Given the description of an element on the screen output the (x, y) to click on. 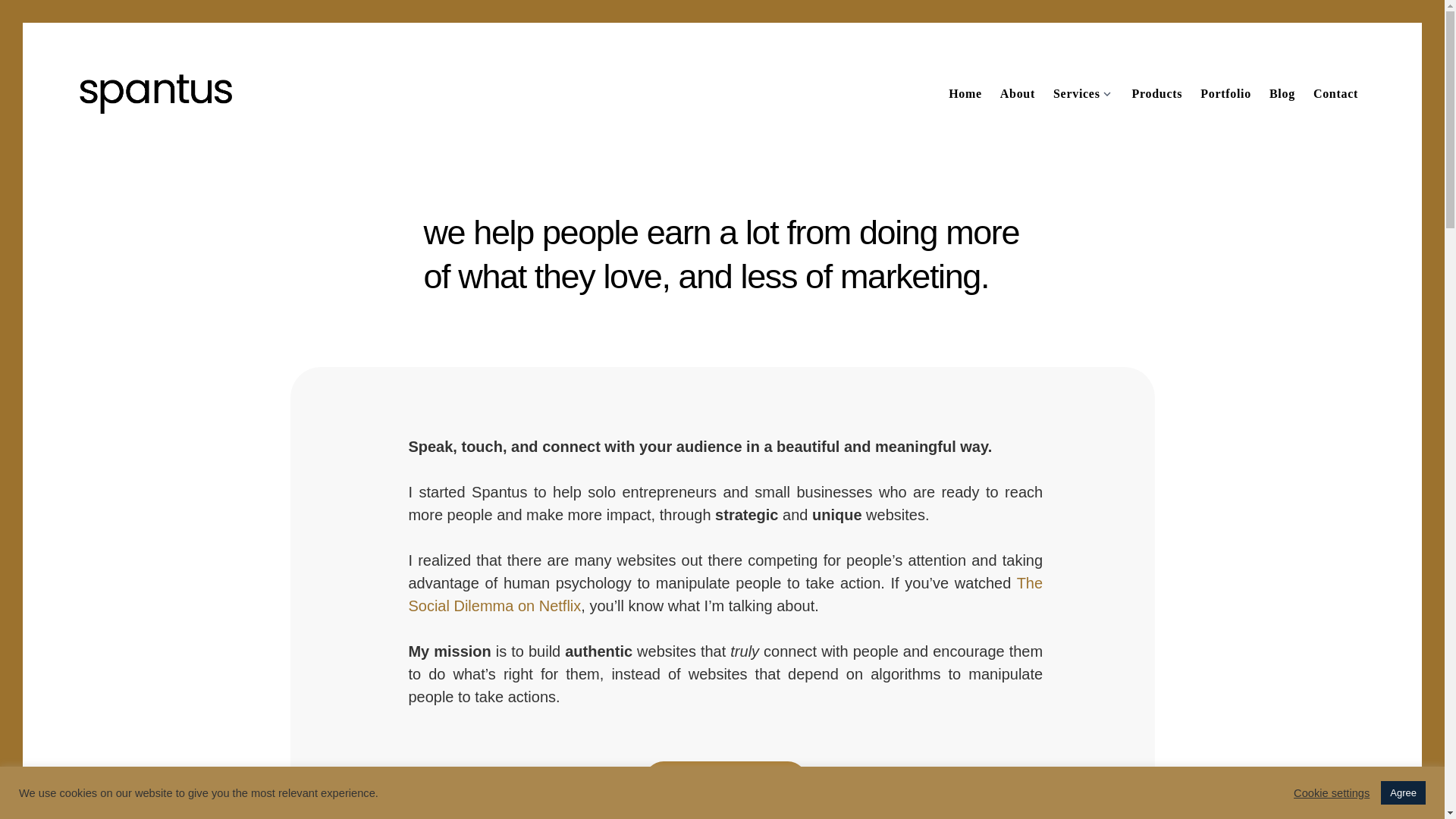
About (1017, 94)
Blog (1282, 94)
Products (1157, 94)
Cookie settings (1332, 792)
Services (1071, 94)
Contact (1335, 94)
The Social Dilemma on Netflix (724, 594)
Portfolio (1225, 94)
See how I do this (725, 780)
Home (965, 94)
